Given the description of an element on the screen output the (x, y) to click on. 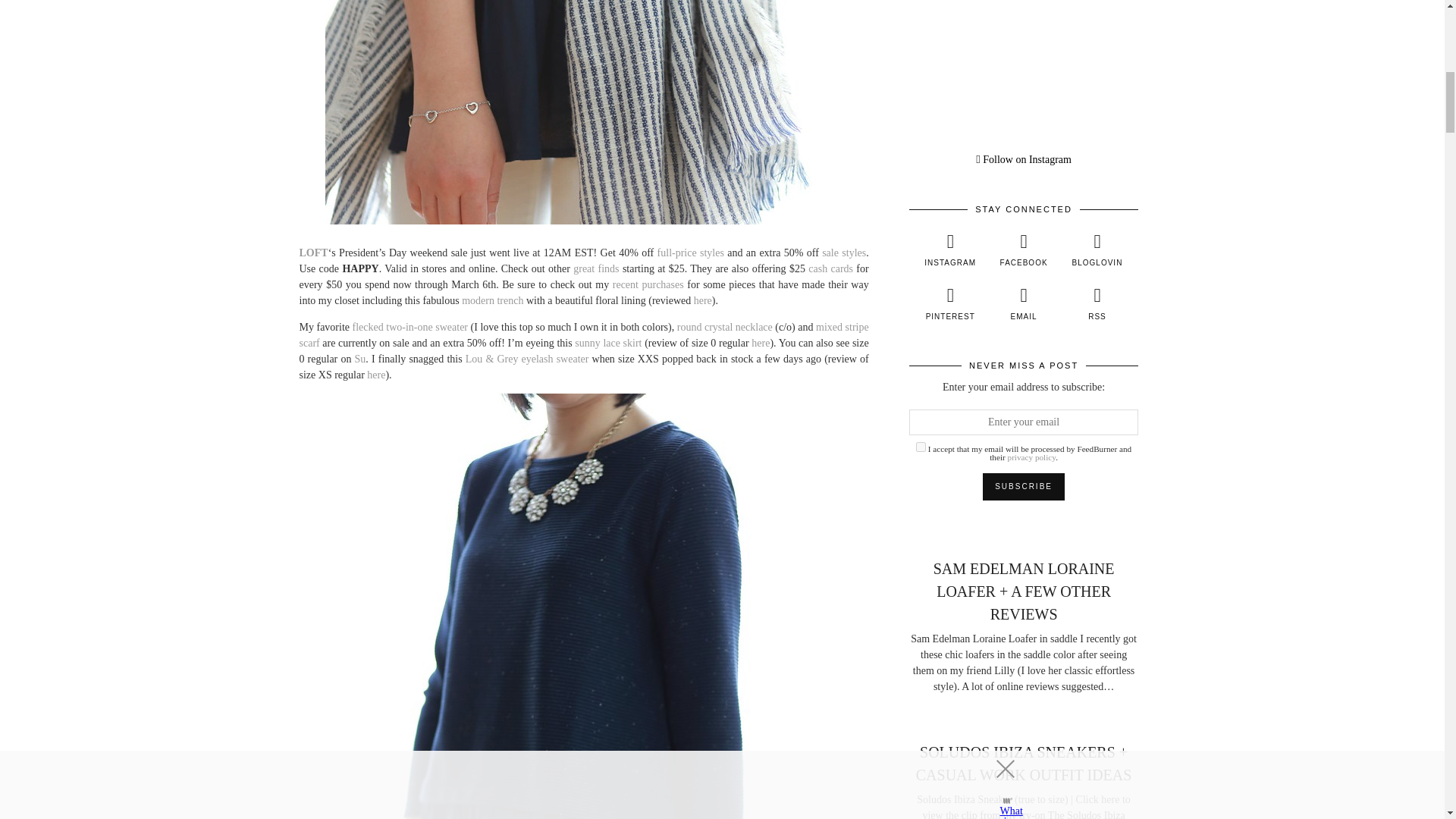
Subscribe (1023, 486)
1 (920, 447)
